Given the description of an element on the screen output the (x, y) to click on. 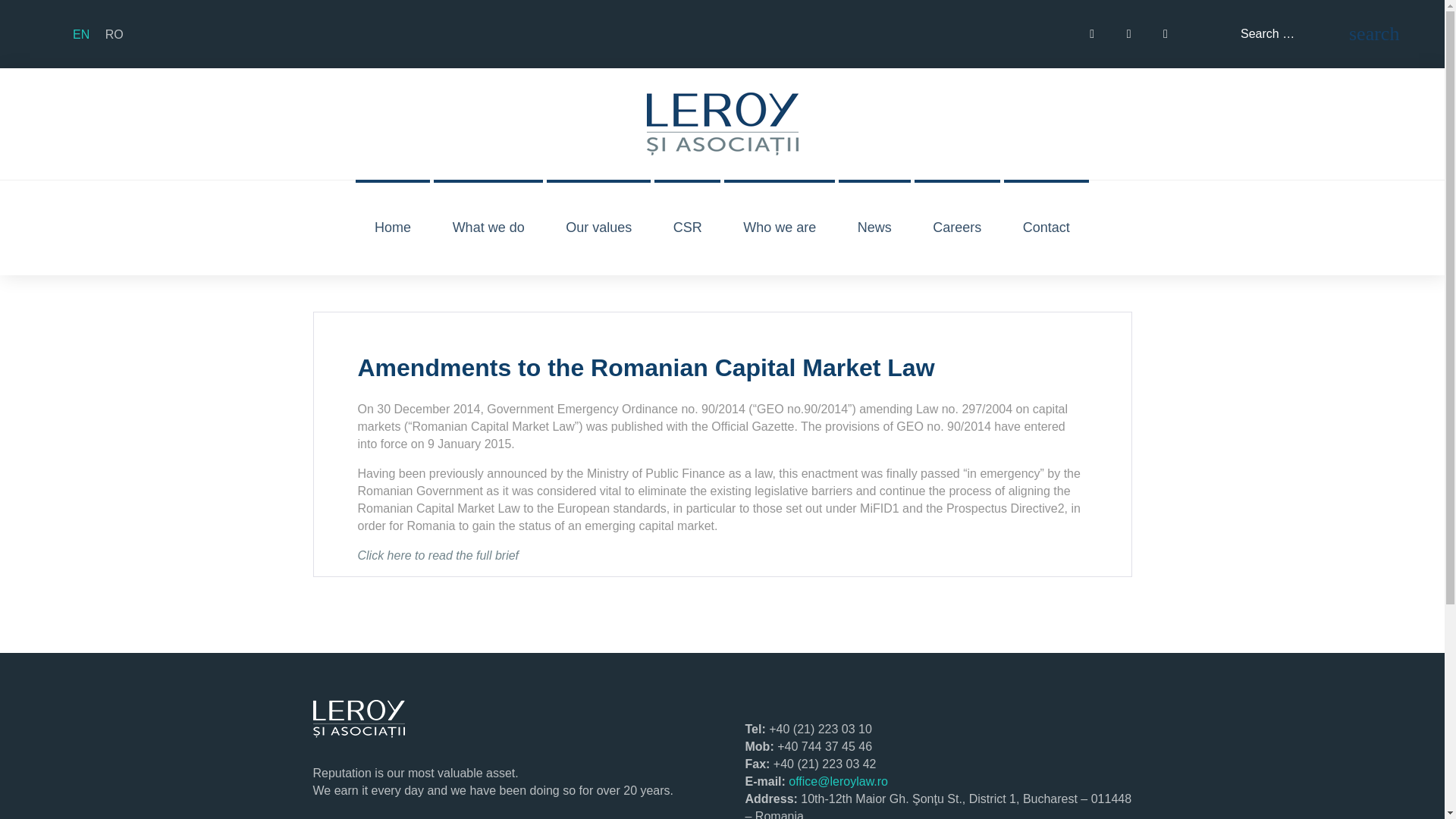
Who we are (778, 227)
Facebook (1091, 33)
Search for: (1291, 33)
Facebook (1091, 33)
LinkedIn (1165, 33)
Our values (598, 227)
What we do (488, 227)
Careers (957, 227)
Contact (1046, 227)
